Given the description of an element on the screen output the (x, y) to click on. 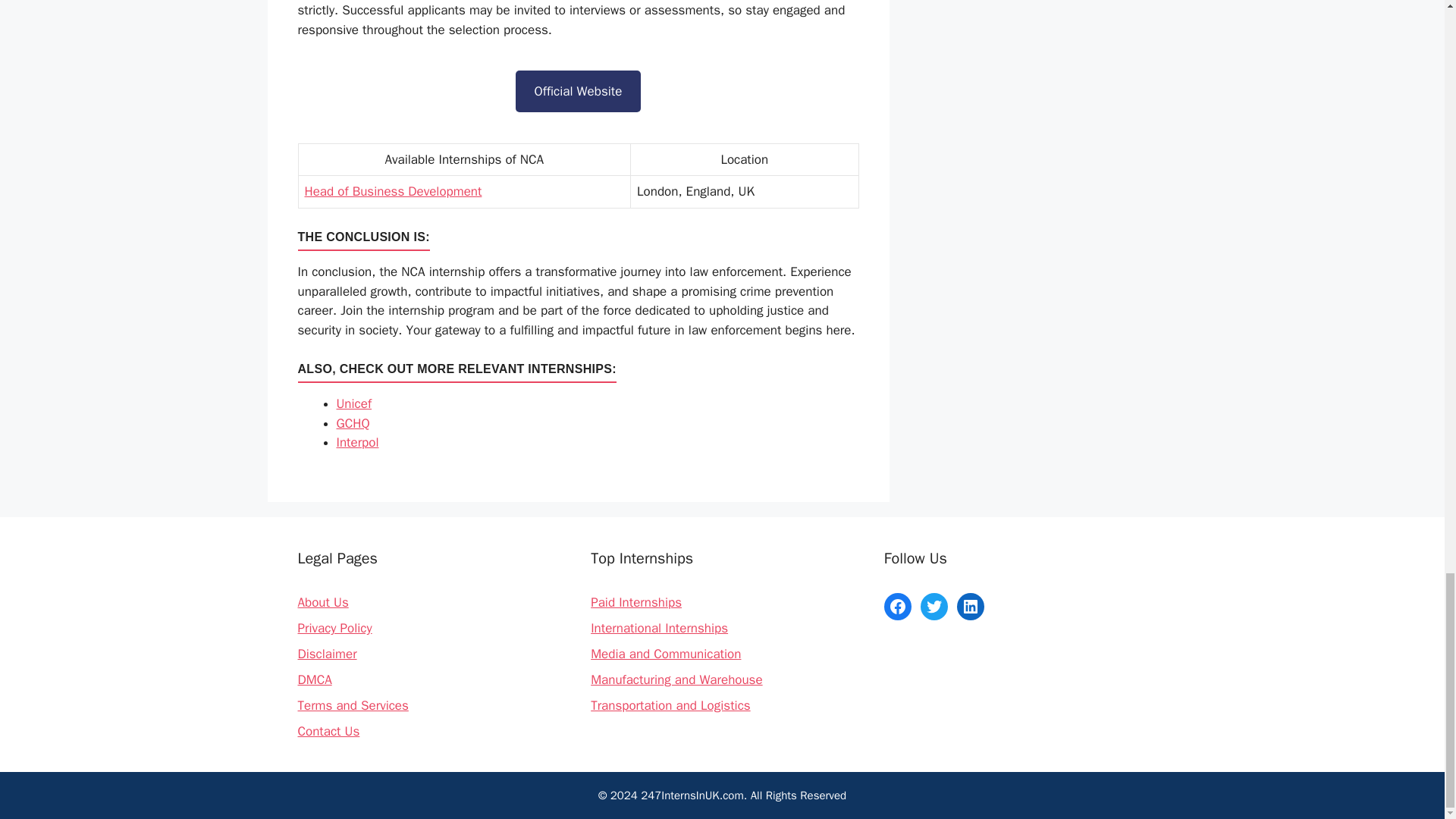
Official Website (578, 91)
NCA Internship Portal (578, 91)
Head of Business Development (392, 191)
Unicef (354, 403)
Interpol (357, 442)
GCHQ (352, 423)
